Given the description of an element on the screen output the (x, y) to click on. 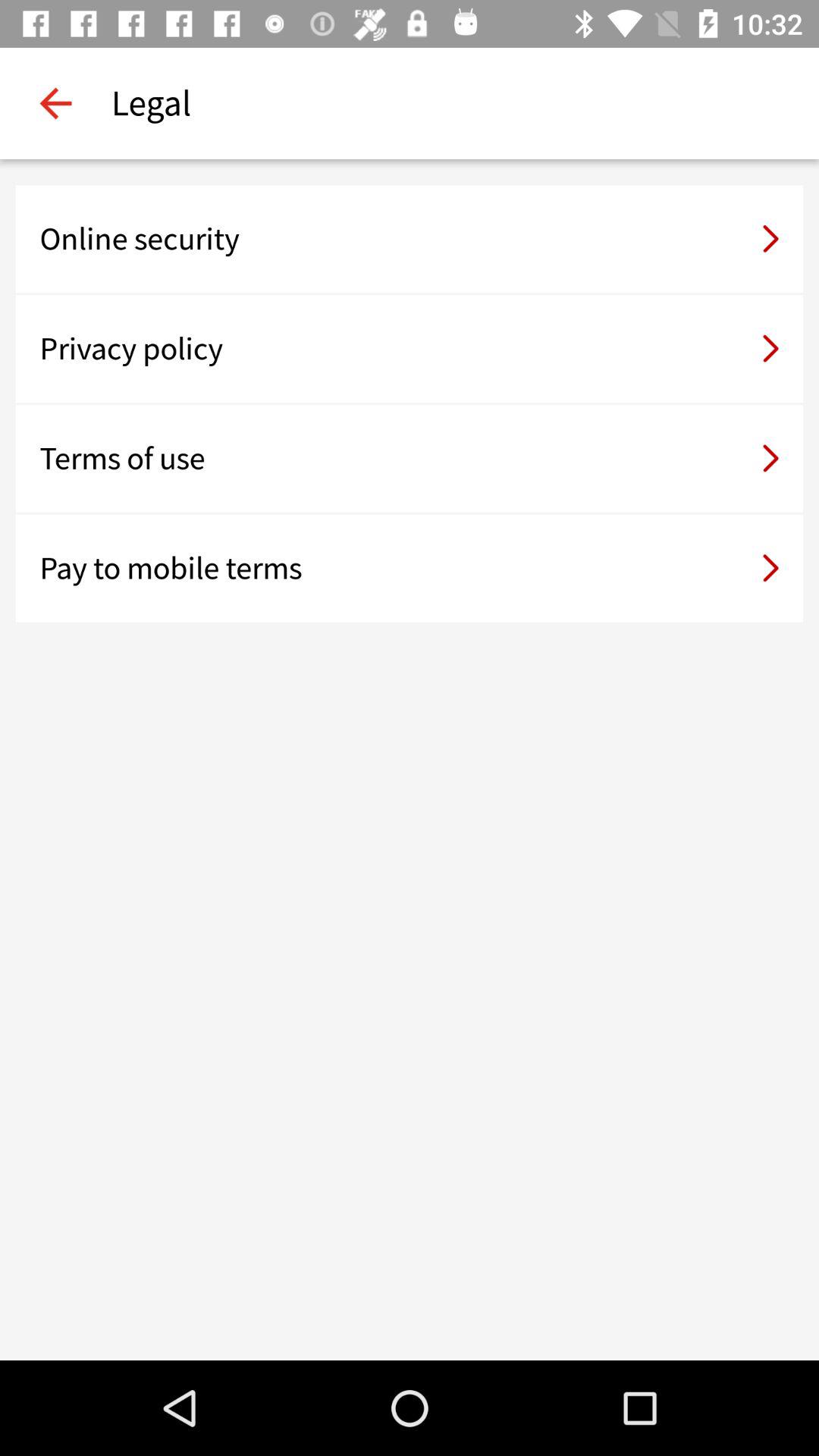
open the icon to the left of the legal app (55, 103)
